Given the description of an element on the screen output the (x, y) to click on. 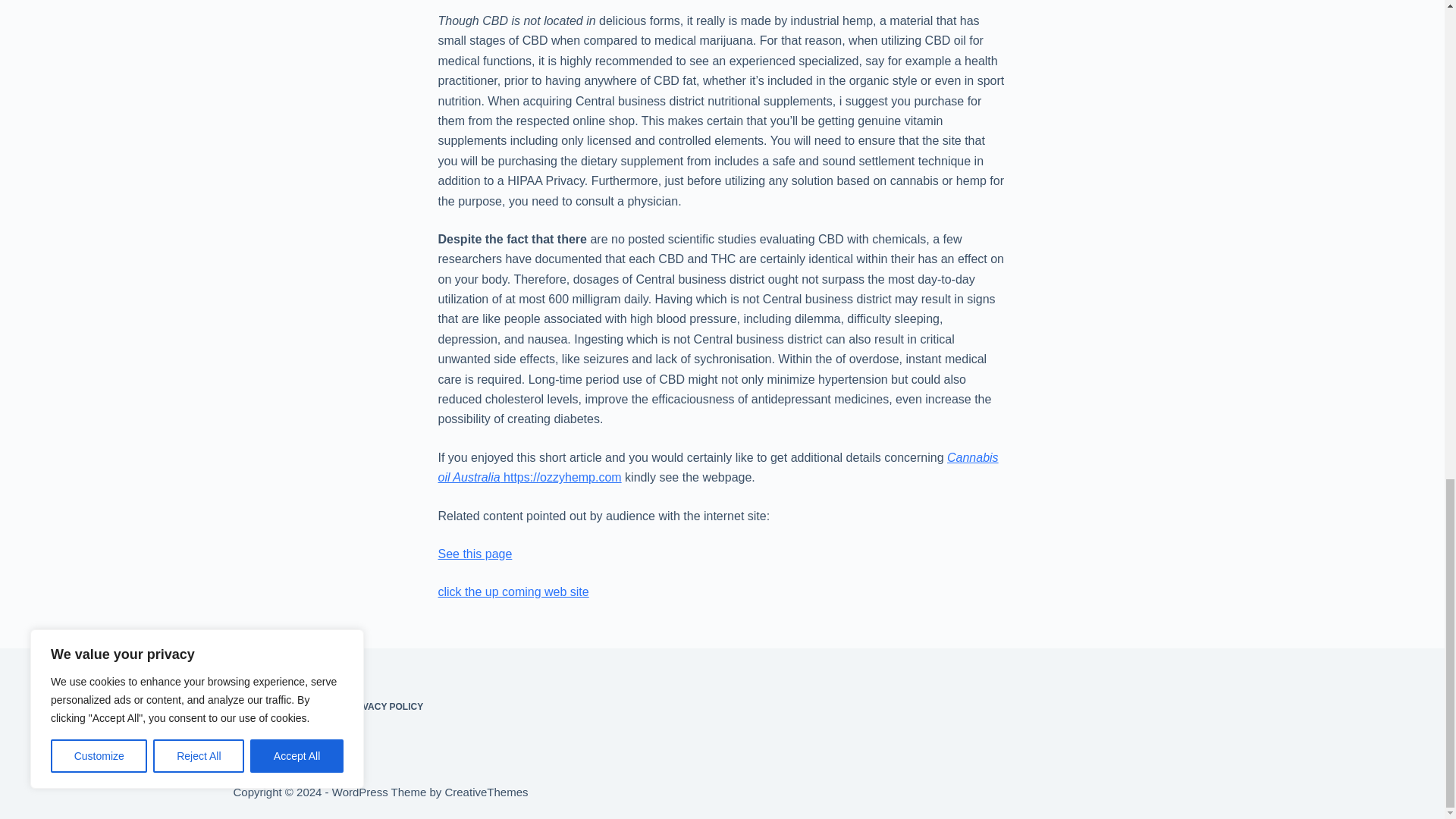
PRIVACY POLICY (384, 707)
ABOUT (249, 707)
CONTACT (306, 707)
click the up coming web site (513, 591)
See this page (475, 553)
CreativeThemes (485, 791)
